Given the description of an element on the screen output the (x, y) to click on. 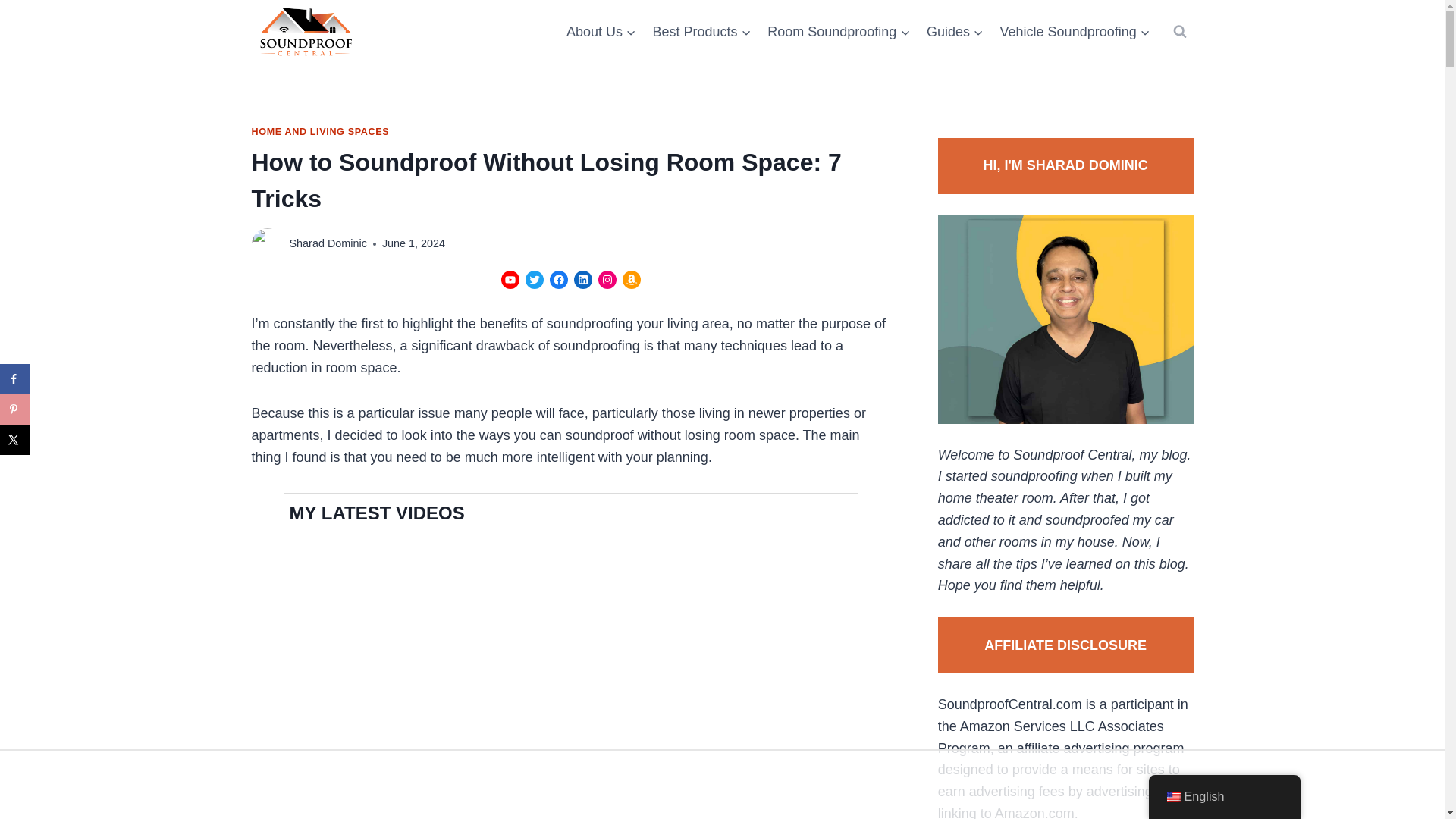
English (1172, 796)
About Us (601, 31)
Room Soundproofing (838, 31)
YouTube (509, 280)
Instagram (606, 280)
Save to Pinterest (15, 409)
Share on X (15, 440)
Sharad Dominic (327, 243)
Vehicle Soundproofing (1074, 31)
Guides (954, 31)
Facebook (558, 280)
HOME AND LIVING SPACES (320, 131)
LinkedIn (582, 280)
Share on Facebook (15, 378)
Best Products (702, 31)
